Given the description of an element on the screen output the (x, y) to click on. 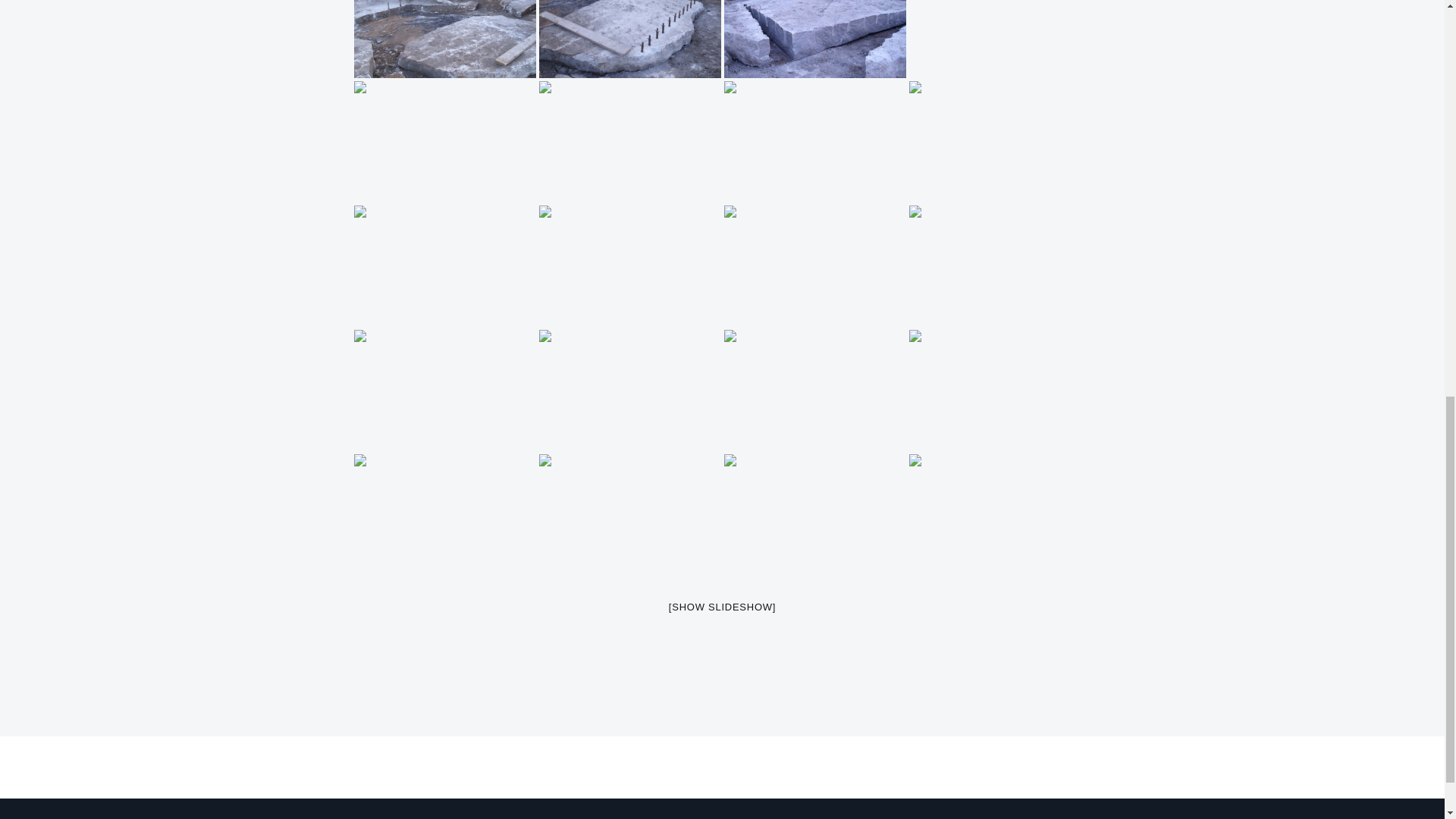
Triming Block (814, 38)
Triming Block (629, 38)
Getting Block (444, 38)
Blocks on stock (999, 38)
